Given the description of an element on the screen output the (x, y) to click on. 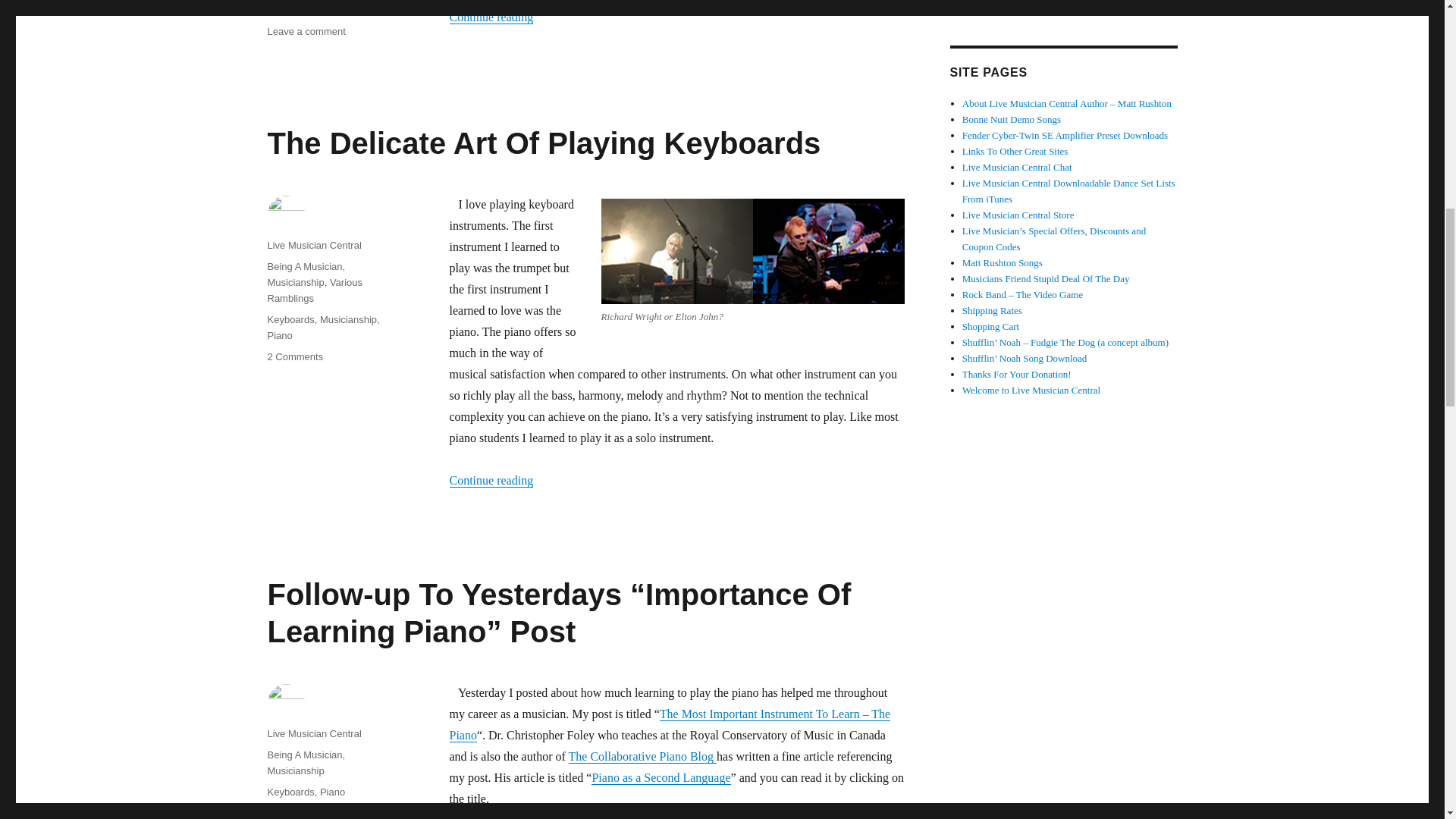
Richard Wright or Elton John? (751, 251)
The Collaborative Piano Blog (643, 756)
Being A Musician (304, 754)
Piano (332, 791)
Being A Musician (294, 356)
Musician Showcase (304, 266)
Live Musician Central (312, 7)
The Delicate Art Of Playing Keyboards (313, 244)
Various Ramblings (543, 142)
